Given the description of an element on the screen output the (x, y) to click on. 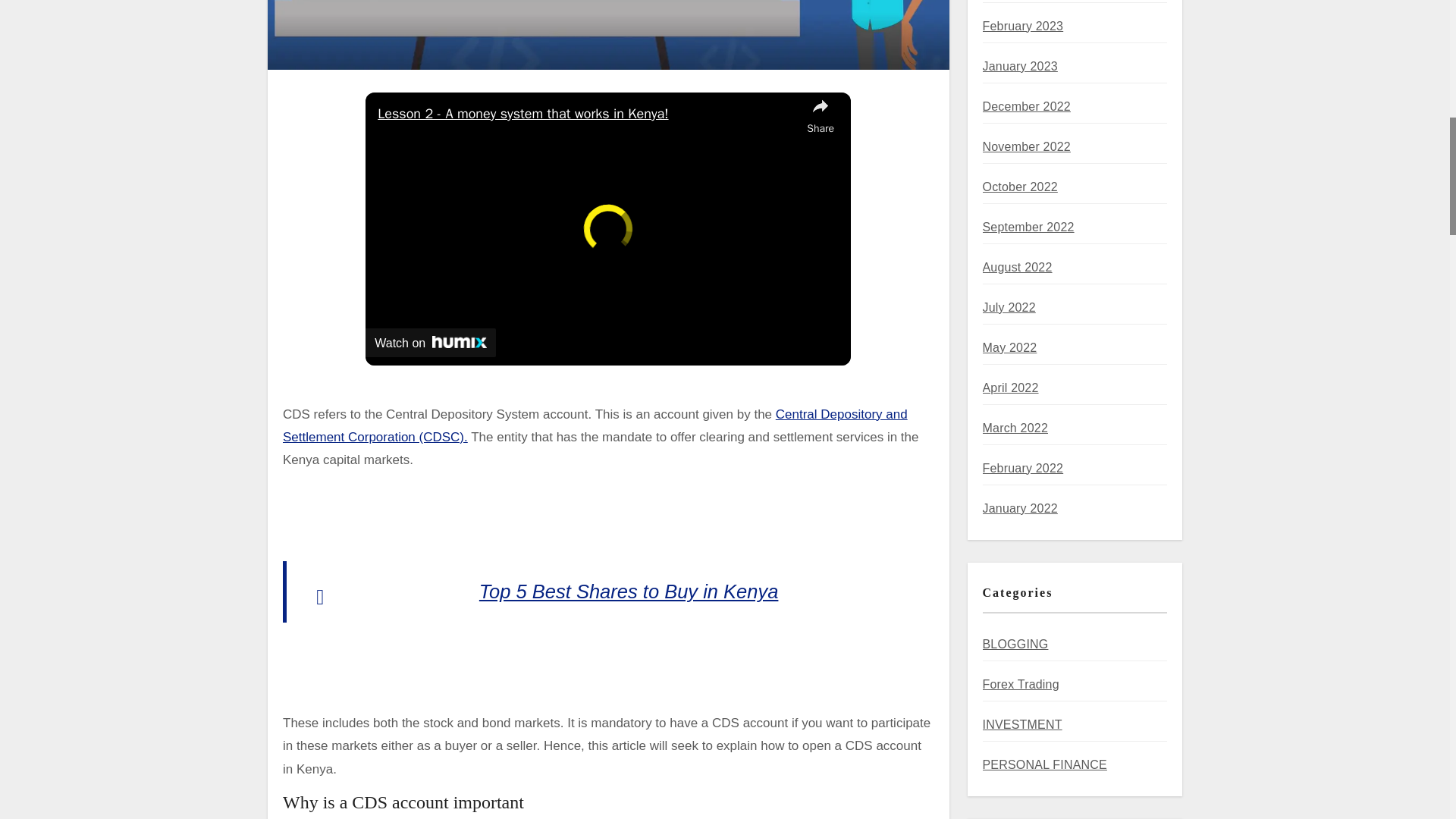
share (820, 115)
